Given the description of an element on the screen output the (x, y) to click on. 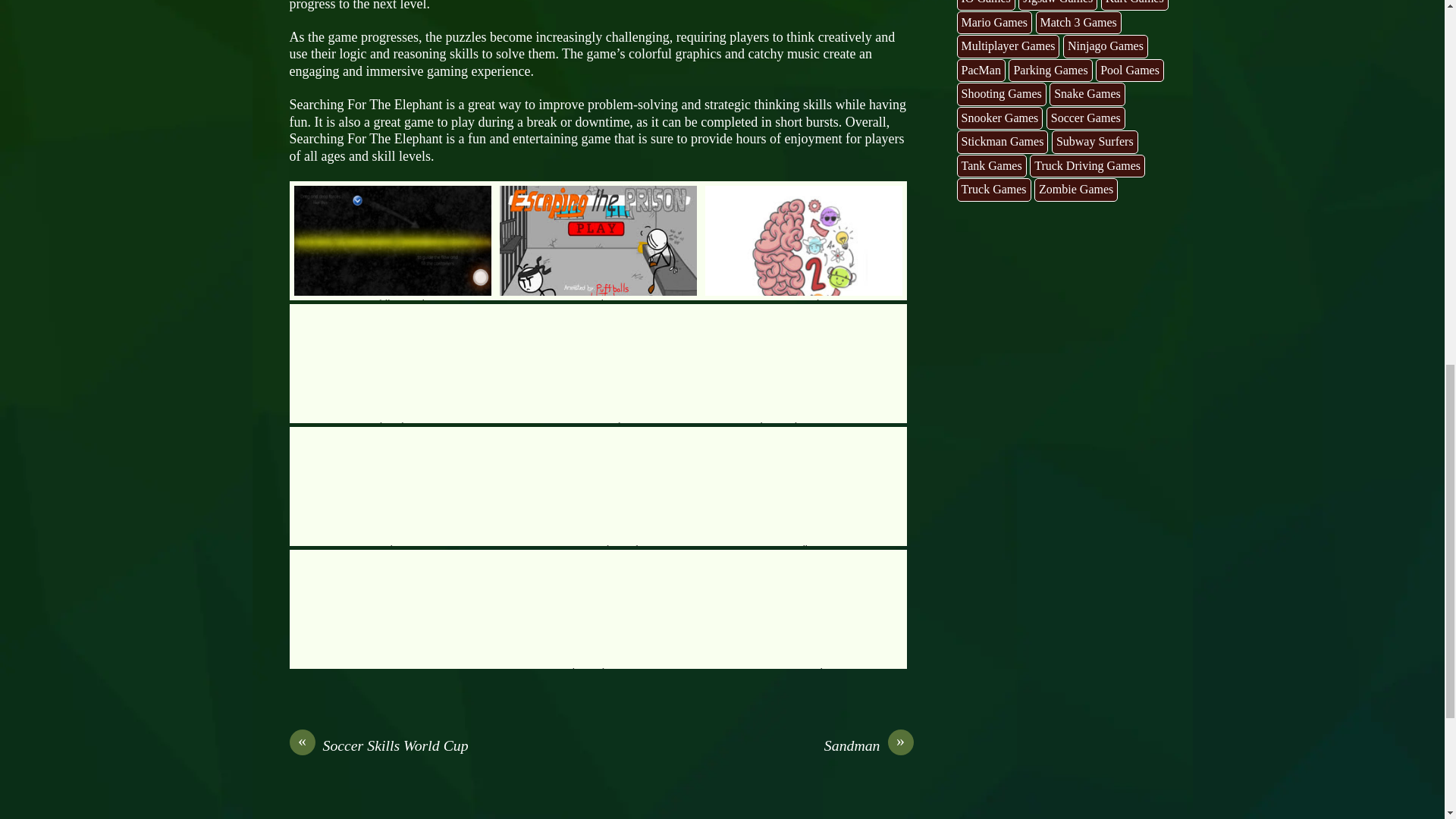
Escaping The Prison (597, 240)
Atomic Puzzle (597, 363)
Seedling (803, 486)
Wake Up The Box 5 (597, 609)
The Cube (392, 363)
Screw the Nut 2 (392, 486)
Barbie Traveling Expert Game (803, 363)
Waterfalls 3 Portals (392, 240)
Brain Test 2: Tricky Stories (803, 240)
Brain Test: Tricky Puzzles (597, 486)
